Given the description of an element on the screen output the (x, y) to click on. 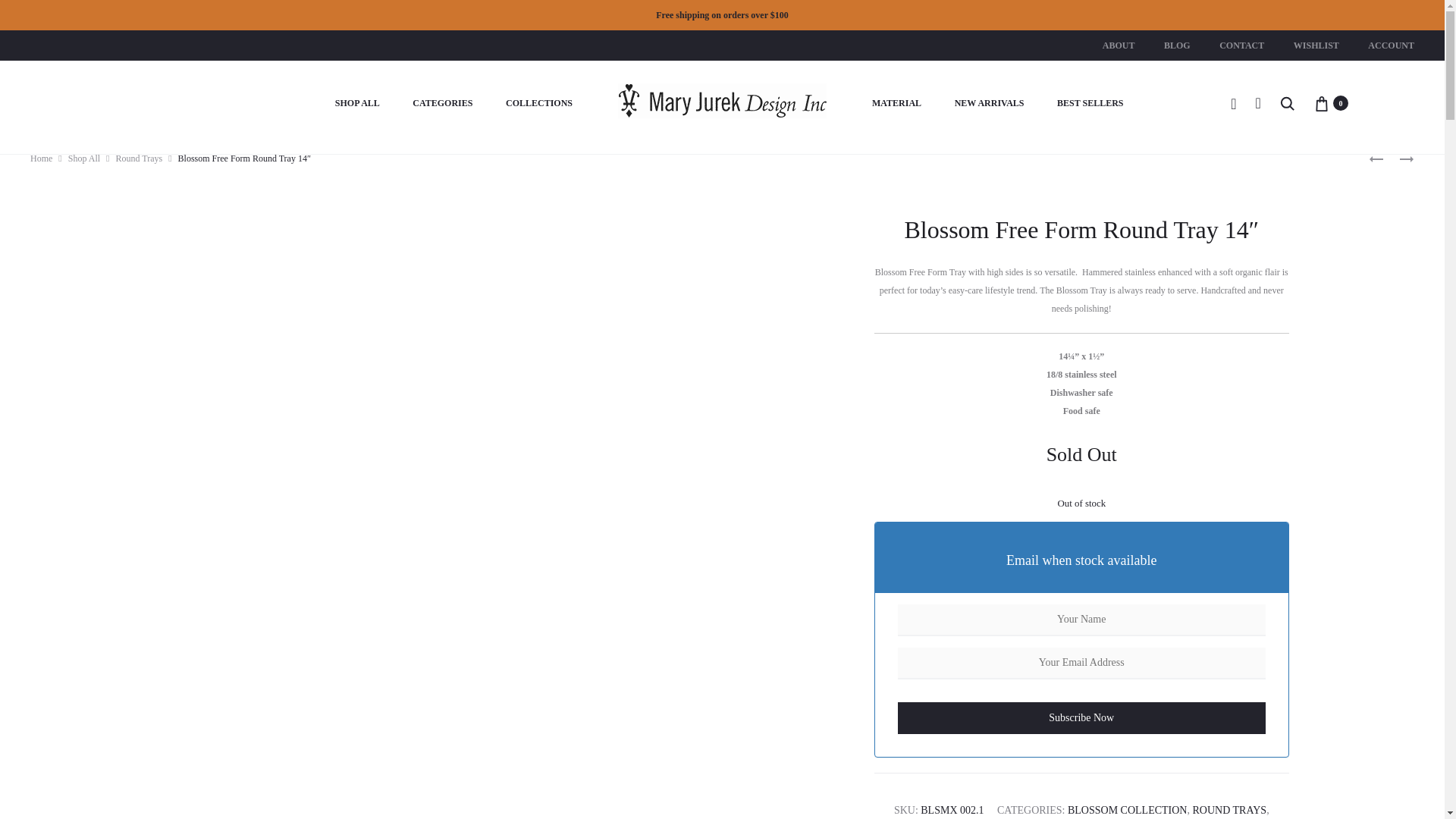
CATEGORIES (441, 103)
CONTACT (1241, 46)
Subscribe Now (1082, 717)
ACCOUNT (1390, 46)
BLOG (1177, 46)
ABOUT (1118, 46)
COLLECTIONS (538, 103)
SHOP ALL (357, 103)
WISHLIST (1316, 46)
